Given the description of an element on the screen output the (x, y) to click on. 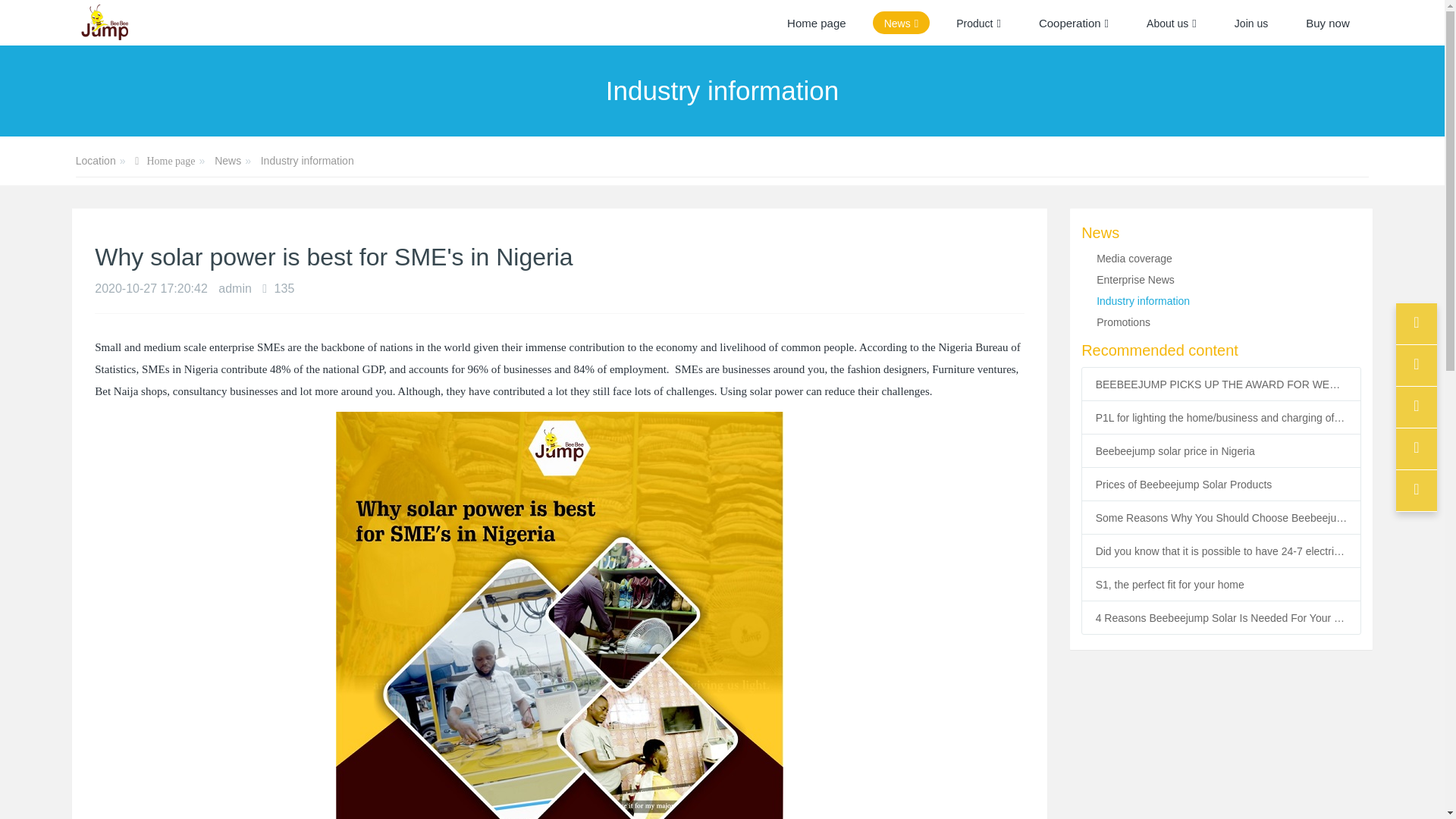
News (901, 22)
Home page (816, 22)
Solar power company in Nigeria (103, 22)
News (901, 22)
Home page (165, 161)
Media coverage (1134, 258)
Home page (816, 22)
Cooperation (1073, 22)
About us (1171, 22)
Cooperation (1073, 22)
